Given the description of an element on the screen output the (x, y) to click on. 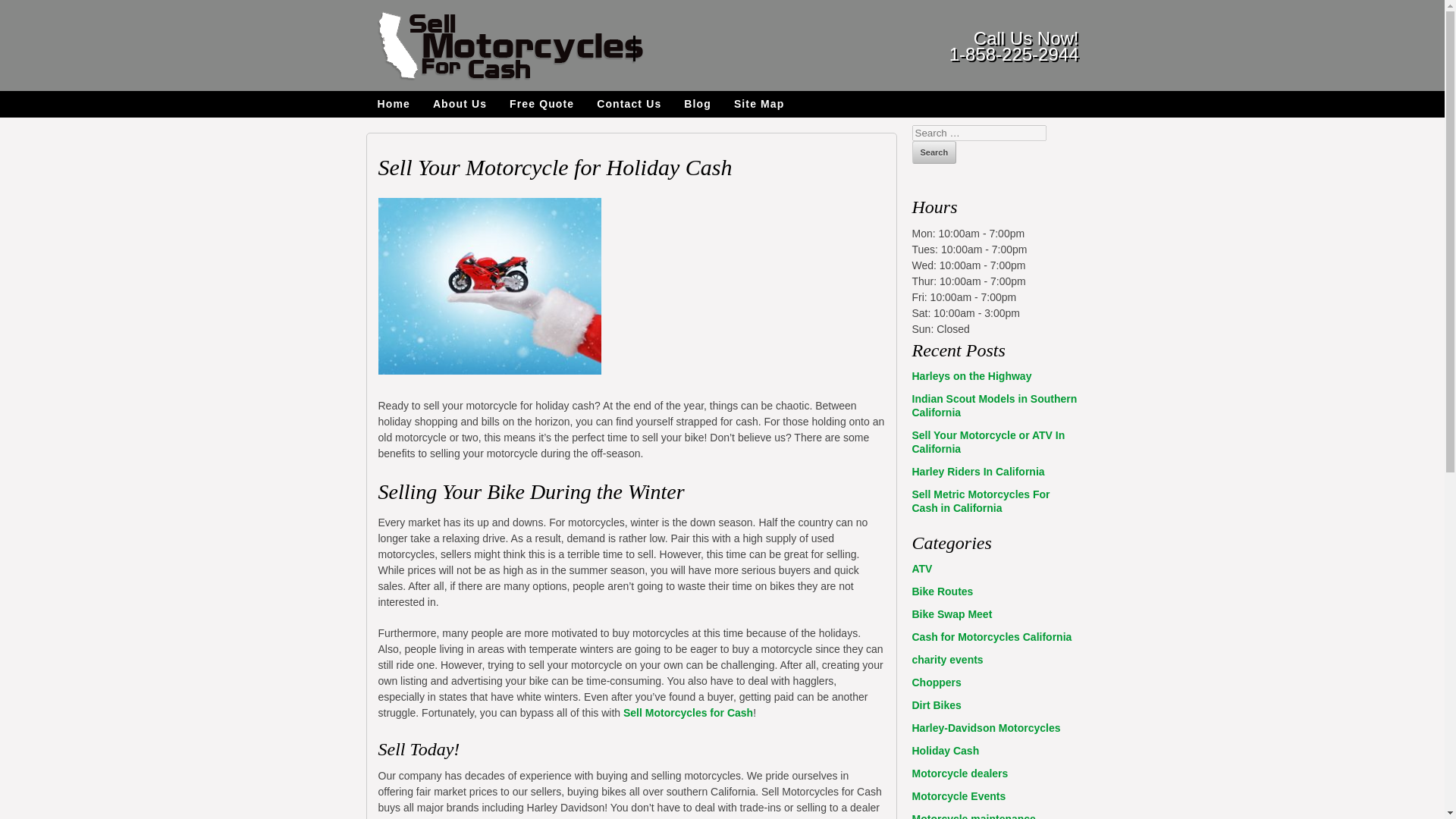
Choppers (935, 682)
Search (933, 151)
Sell Your Motorcycle or ATV In California (987, 442)
Site Map (759, 103)
Bike Routes (941, 591)
Search (933, 151)
Motorcycle dealers (959, 773)
Sell Motorcycles for Cash (687, 712)
Harleys on the Highway (970, 376)
ATV (921, 568)
Free Quote (541, 103)
Bike Swap Meet (951, 613)
Contact Us (628, 103)
Holiday Cash (944, 750)
Motorcycle maintenance (973, 816)
